Given the description of an element on the screen output the (x, y) to click on. 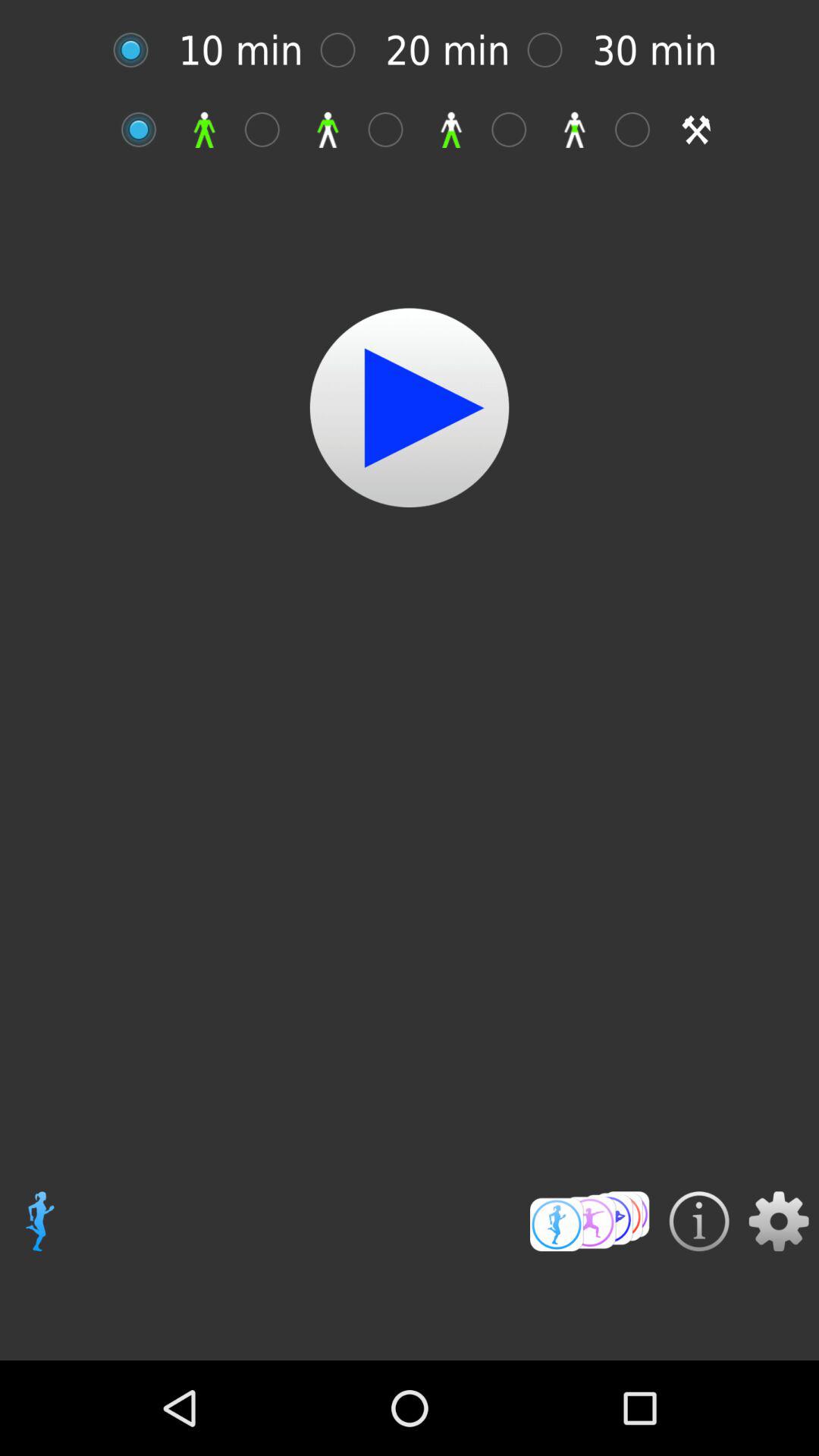
toggle length (138, 49)
